Given the description of an element on the screen output the (x, y) to click on. 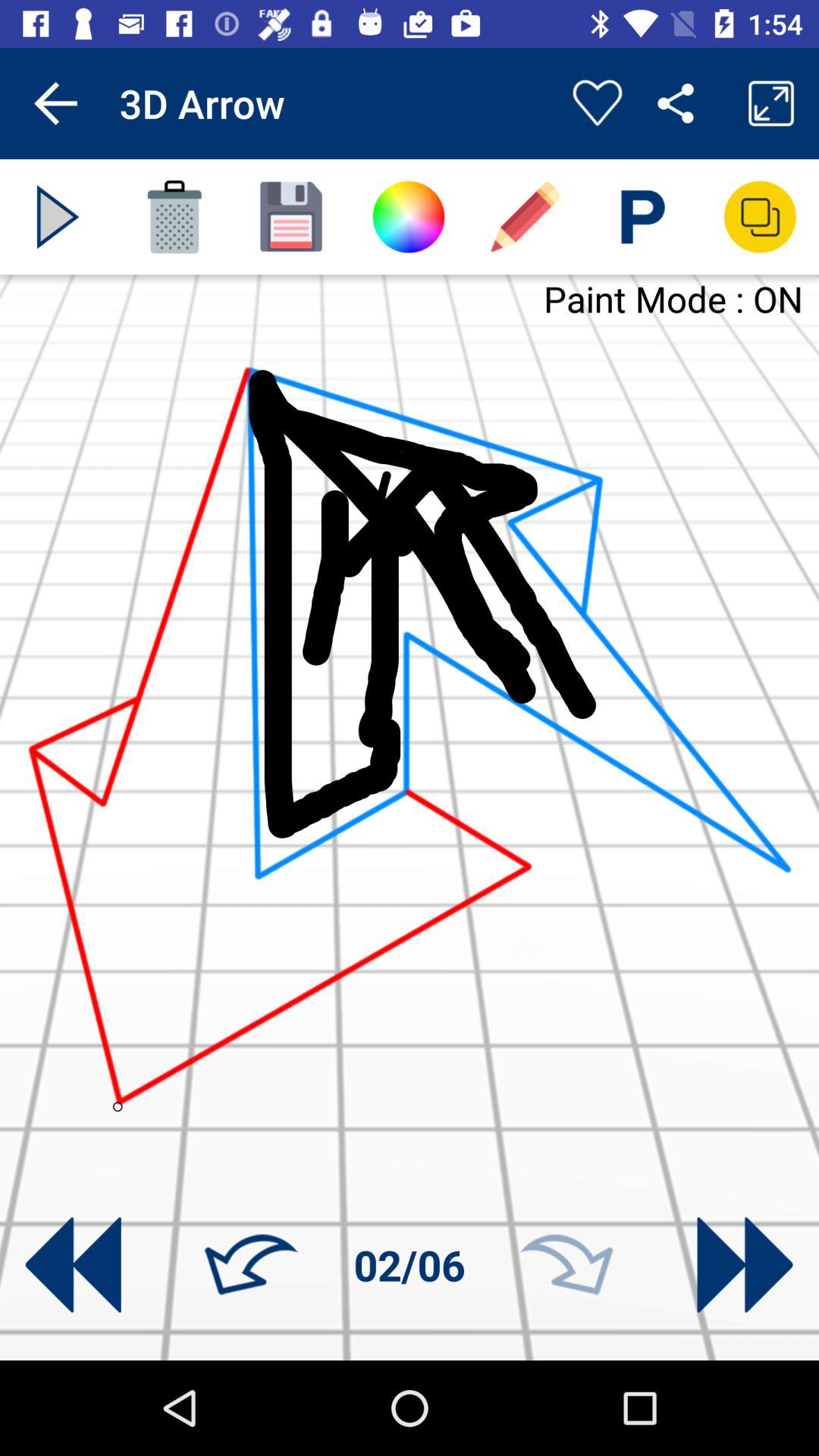
go back to the previous page (73, 1264)
